Given the description of an element on the screen output the (x, y) to click on. 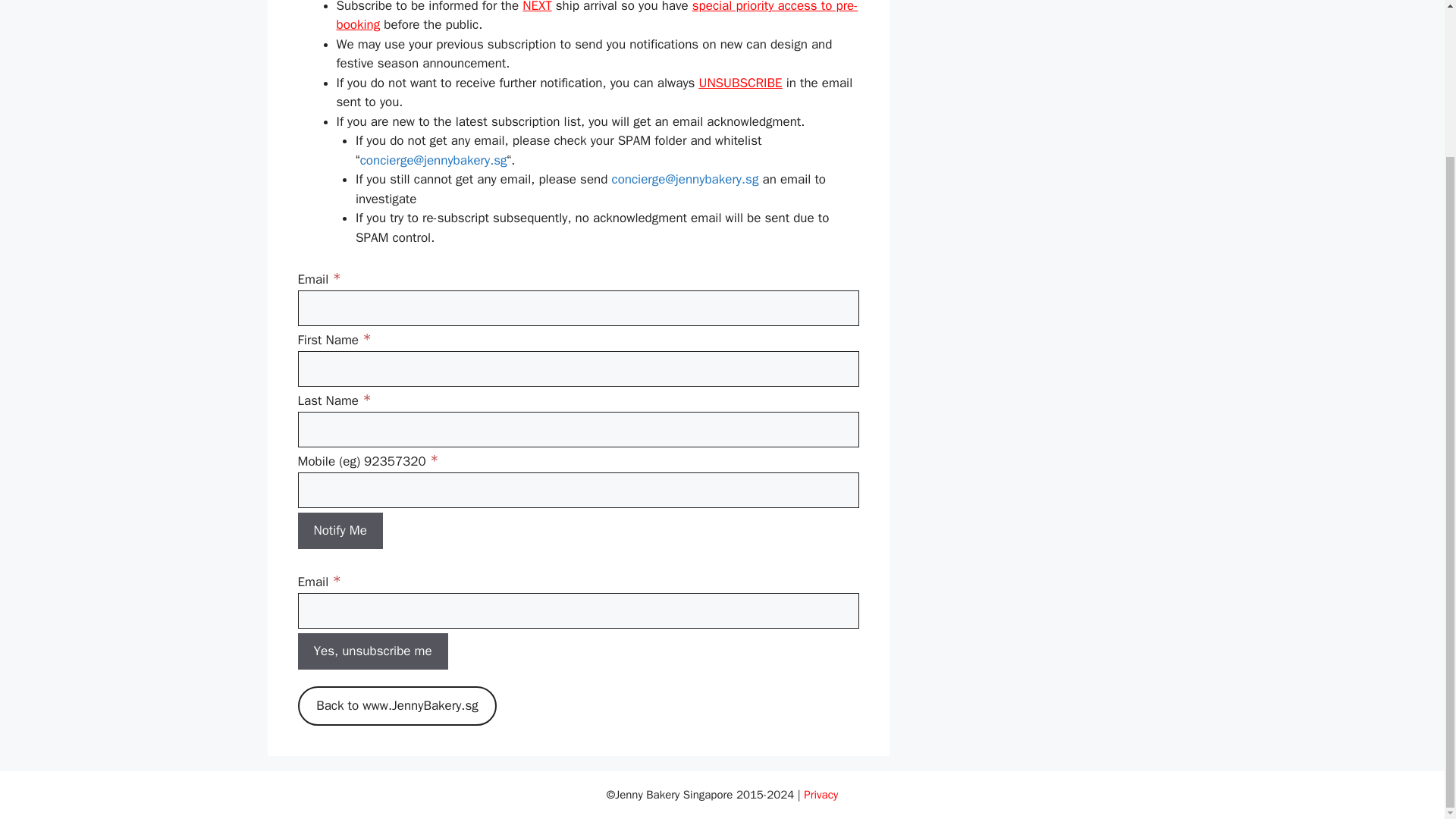
Privacy (820, 794)
Notify Me (339, 530)
Back to www.JennyBakery.sg (396, 705)
Yes, unsubscribe me (371, 651)
Yes, unsubscribe me (371, 651)
Notify Me (339, 530)
